Given the description of an element on the screen output the (x, y) to click on. 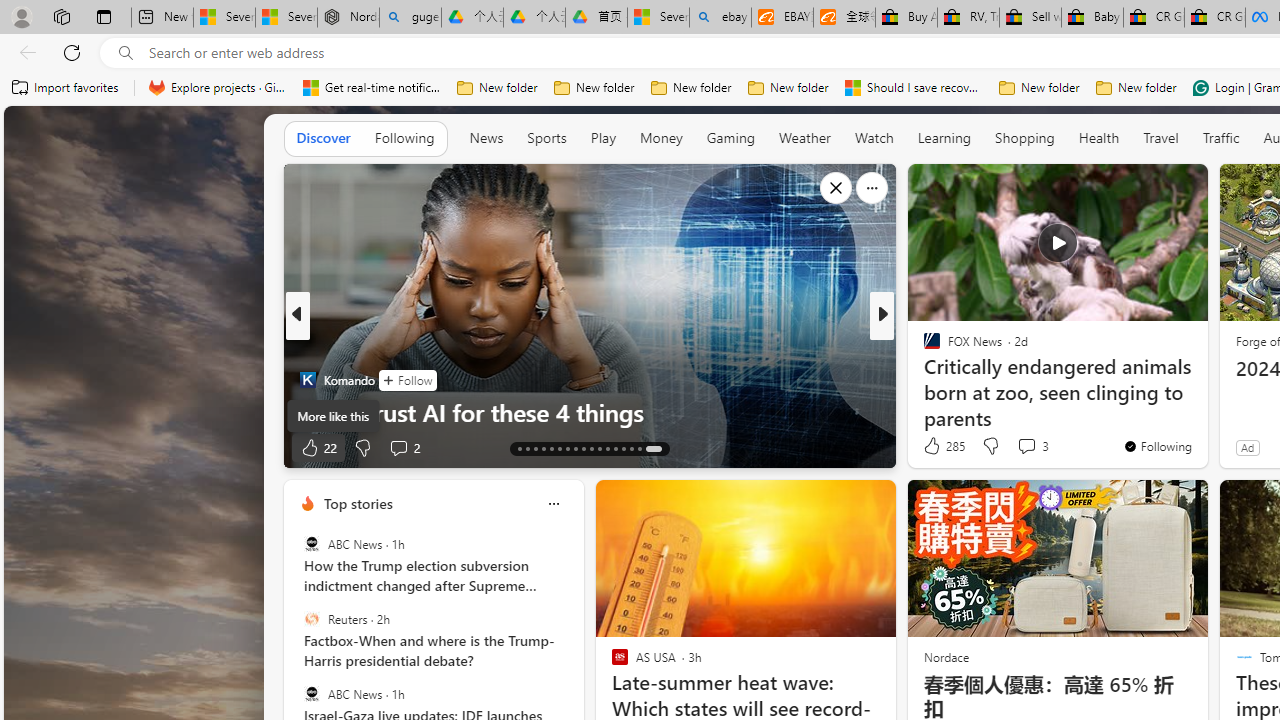
Travel (1160, 138)
Weather (804, 137)
Health (1098, 138)
AutomationID: tab-20 (574, 448)
AutomationID: tab-40 (631, 448)
View comments 3 Comment (1032, 446)
Shopping (1025, 137)
AutomationID: tab-18 (559, 448)
Traffic (1220, 137)
New folder (1136, 88)
Weather (804, 138)
AutomationID: tab-17 (550, 448)
Learning (944, 137)
